Given the description of an element on the screen output the (x, y) to click on. 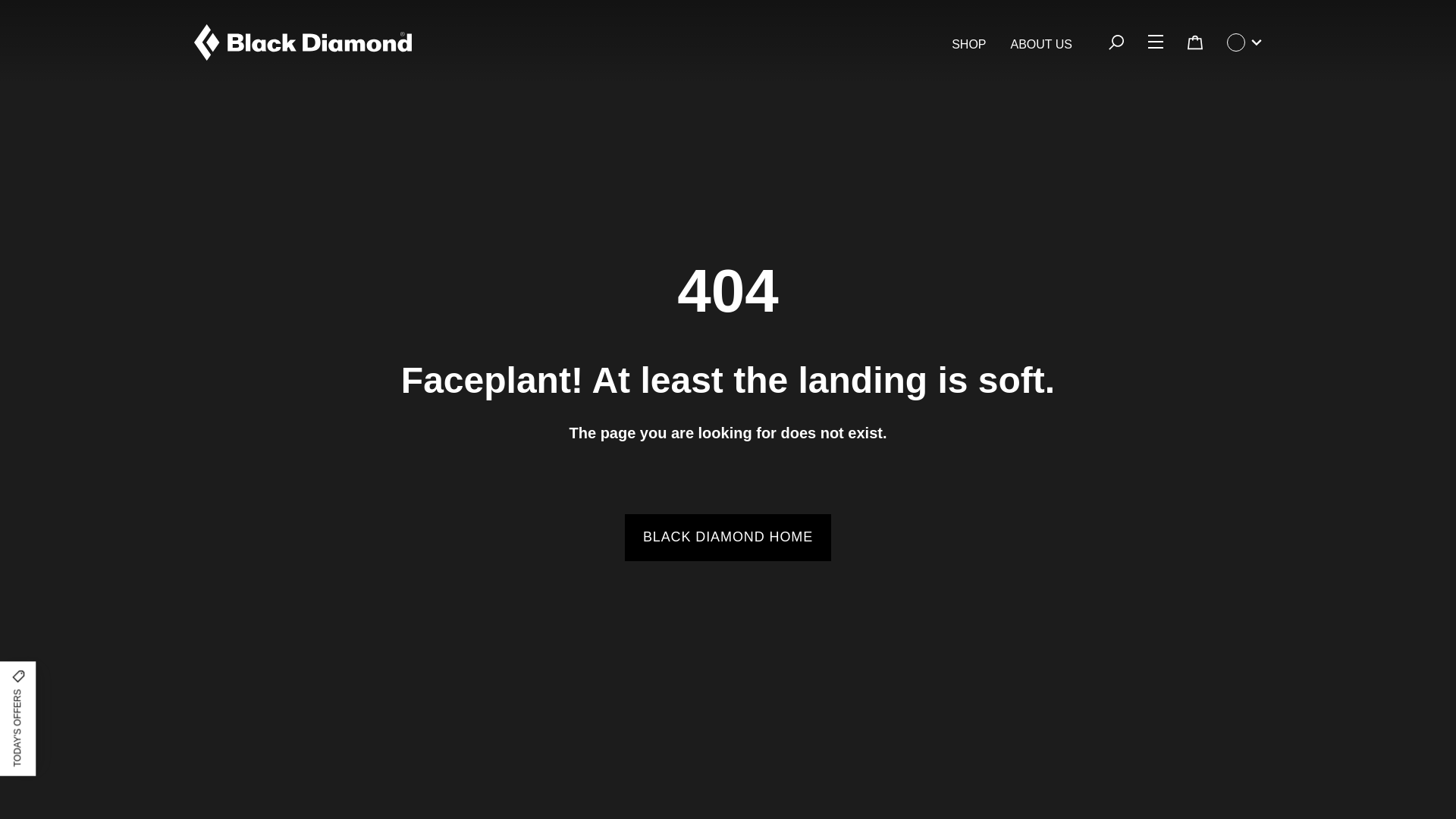
ABOUT US (1040, 44)
Search (1116, 42)
Cart (1195, 42)
Black Diamond (302, 42)
SHOP (968, 44)
CART (1194, 42)
Black Diamond (302, 42)
Change Locale (1244, 42)
